Given the description of an element on the screen output the (x, y) to click on. 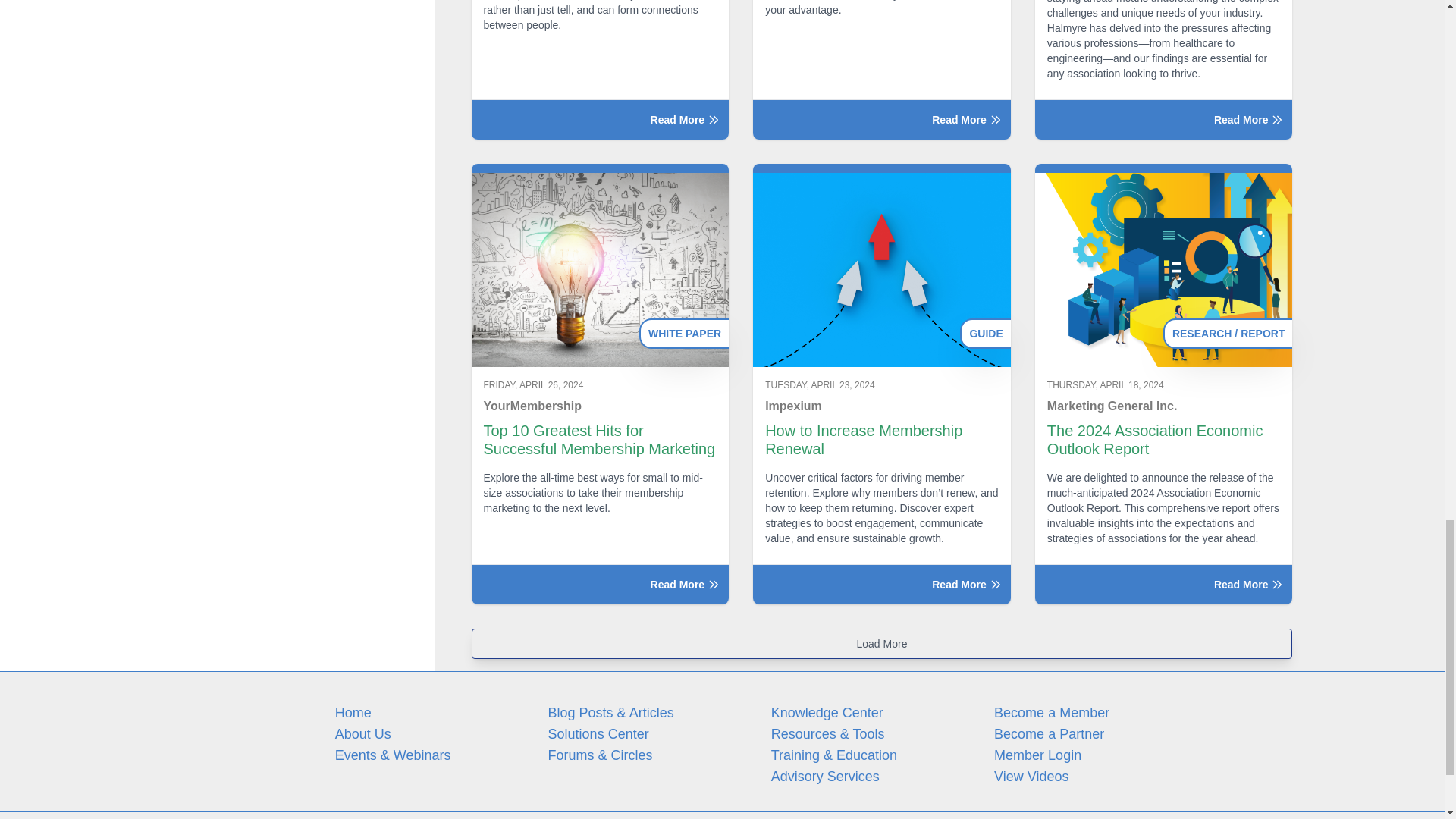
YourMembership (600, 406)
Impexium (881, 406)
Marketing General Inc. (1163, 406)
